Given the description of an element on the screen output the (x, y) to click on. 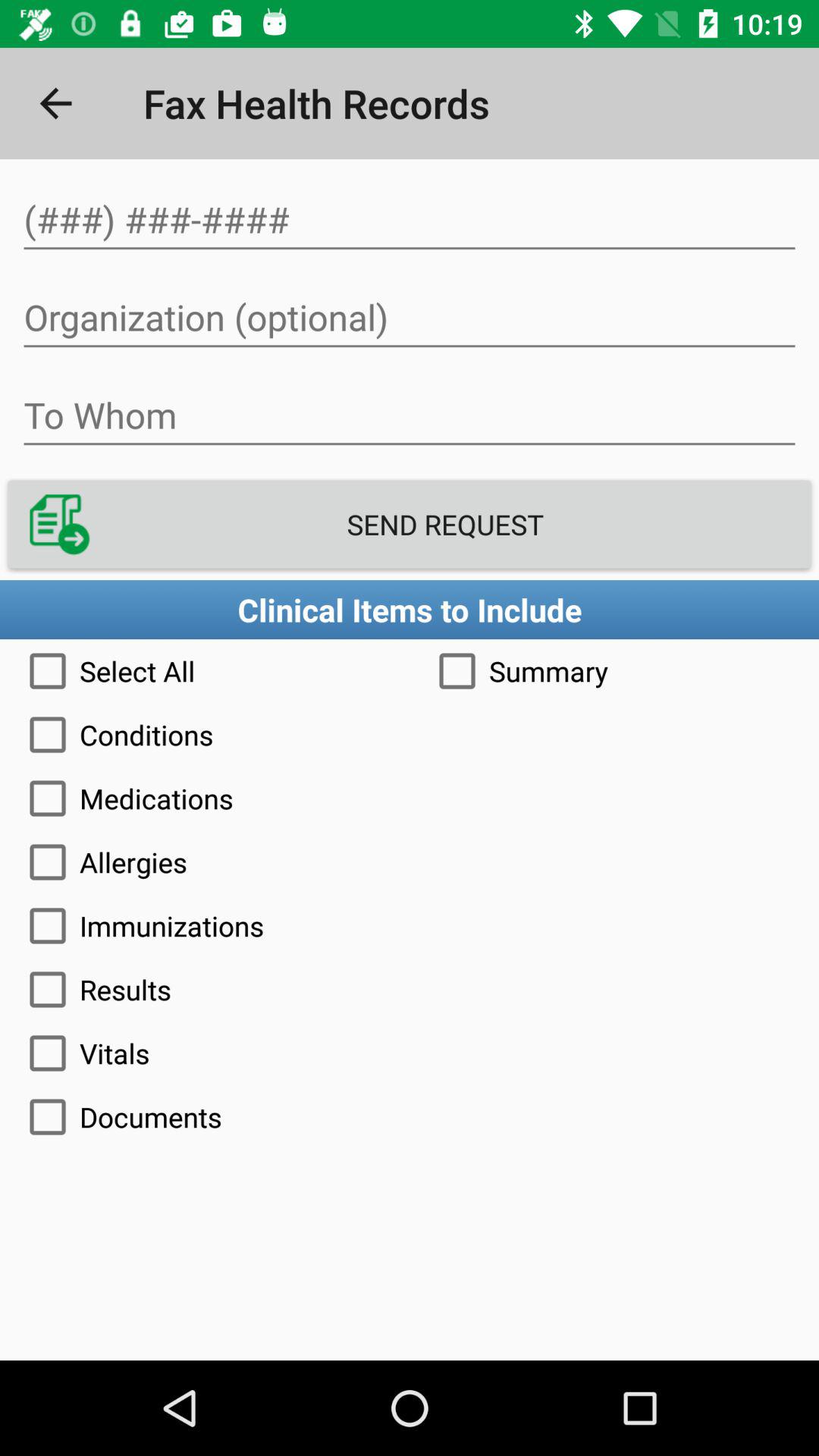
tap the item below the immunizations (409, 989)
